Given the description of an element on the screen output the (x, y) to click on. 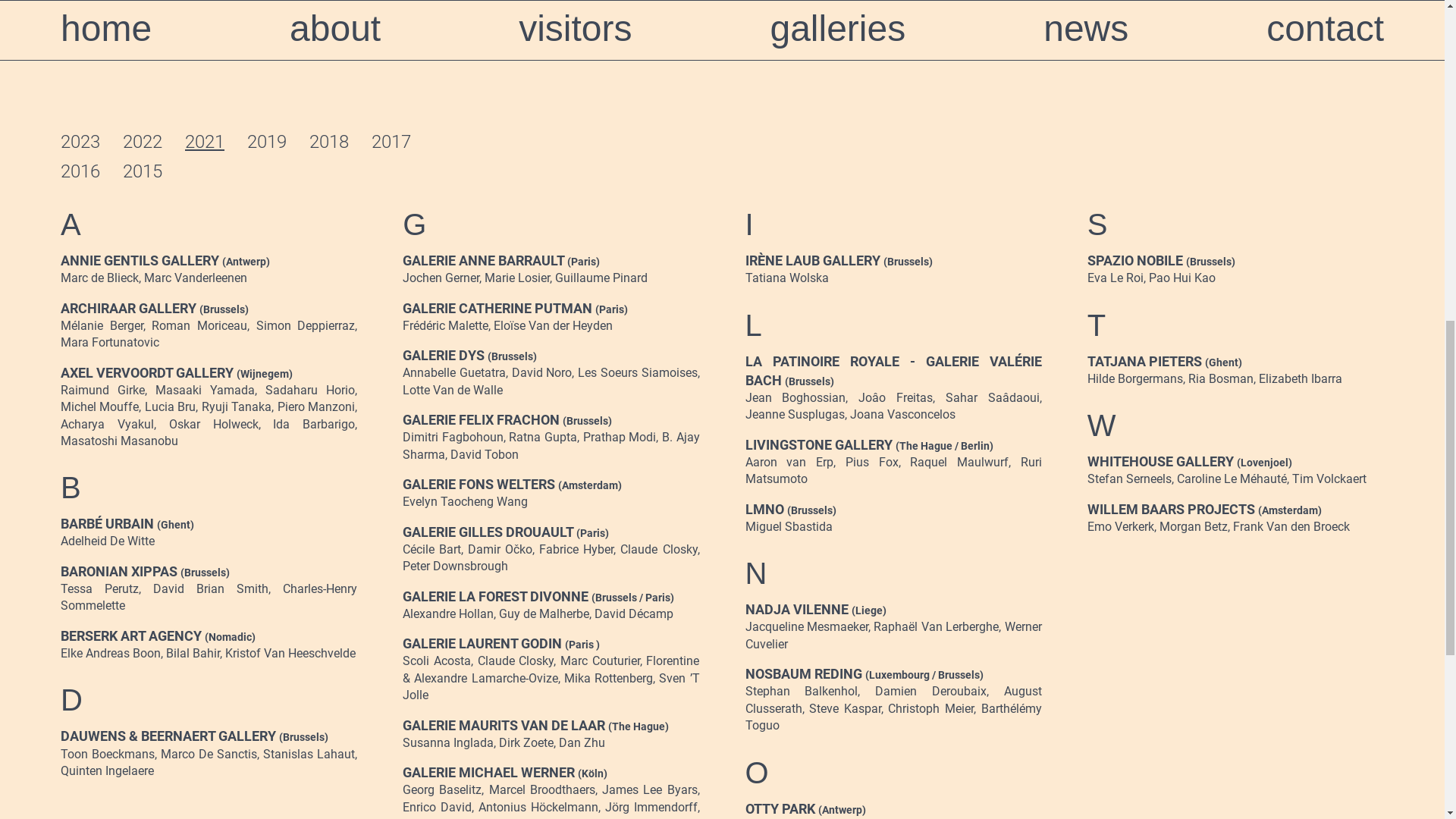
VIP Element type: text (613, 82)
instagram Element type: text (1132, 83)
PARTNERS Element type: text (873, 82)
NL Element type: text (1261, 86)
login Element type: text (1369, 86)
EN Element type: text (1291, 86)
FR Element type: text (1232, 86)
PRESS Element type: text (723, 82)
facebook Element type: text (1024, 83)
